Given the description of an element on the screen output the (x, y) to click on. 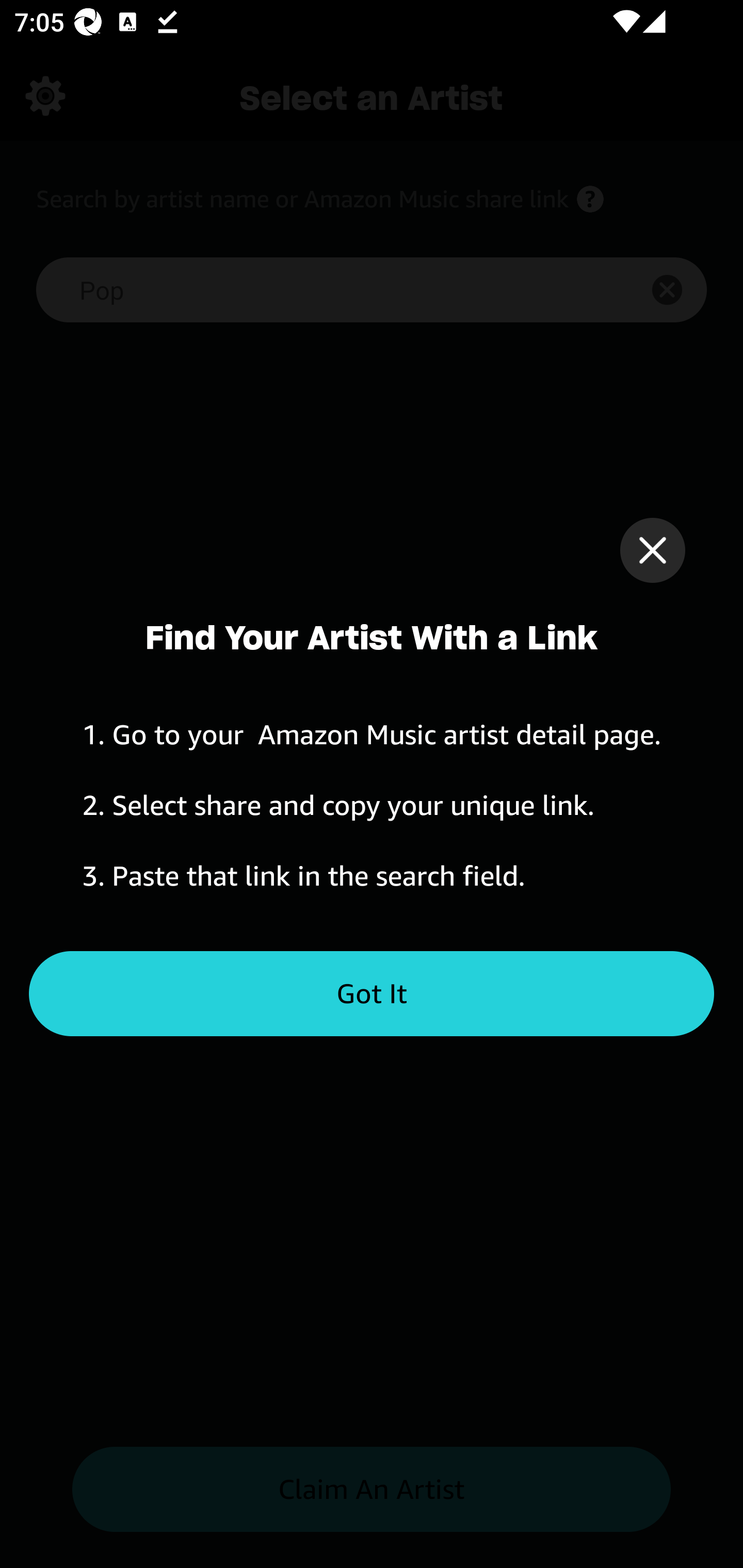
Generic_dismiss  icon (652, 550)
Got it button Got It (371, 993)
